Given the description of an element on the screen output the (x, y) to click on. 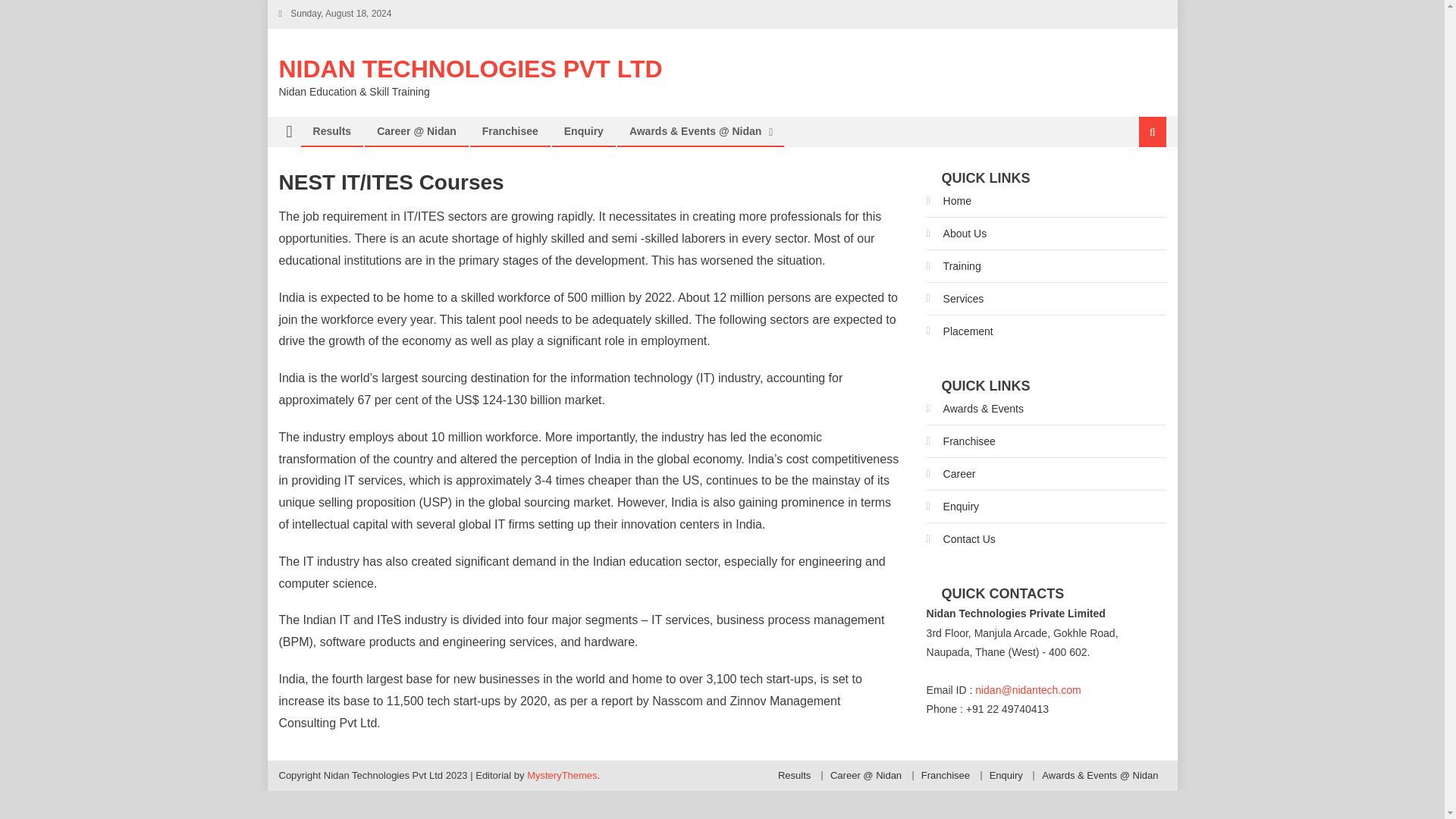
NIDAN TECHNOLOGIES PVT LTD (470, 68)
Career (950, 473)
Results (793, 775)
Services (955, 298)
Training (953, 265)
Placement (959, 331)
Search (1133, 182)
Enquiry (583, 131)
Franchisee (510, 131)
MysteryThemes (561, 775)
